Given the description of an element on the screen output the (x, y) to click on. 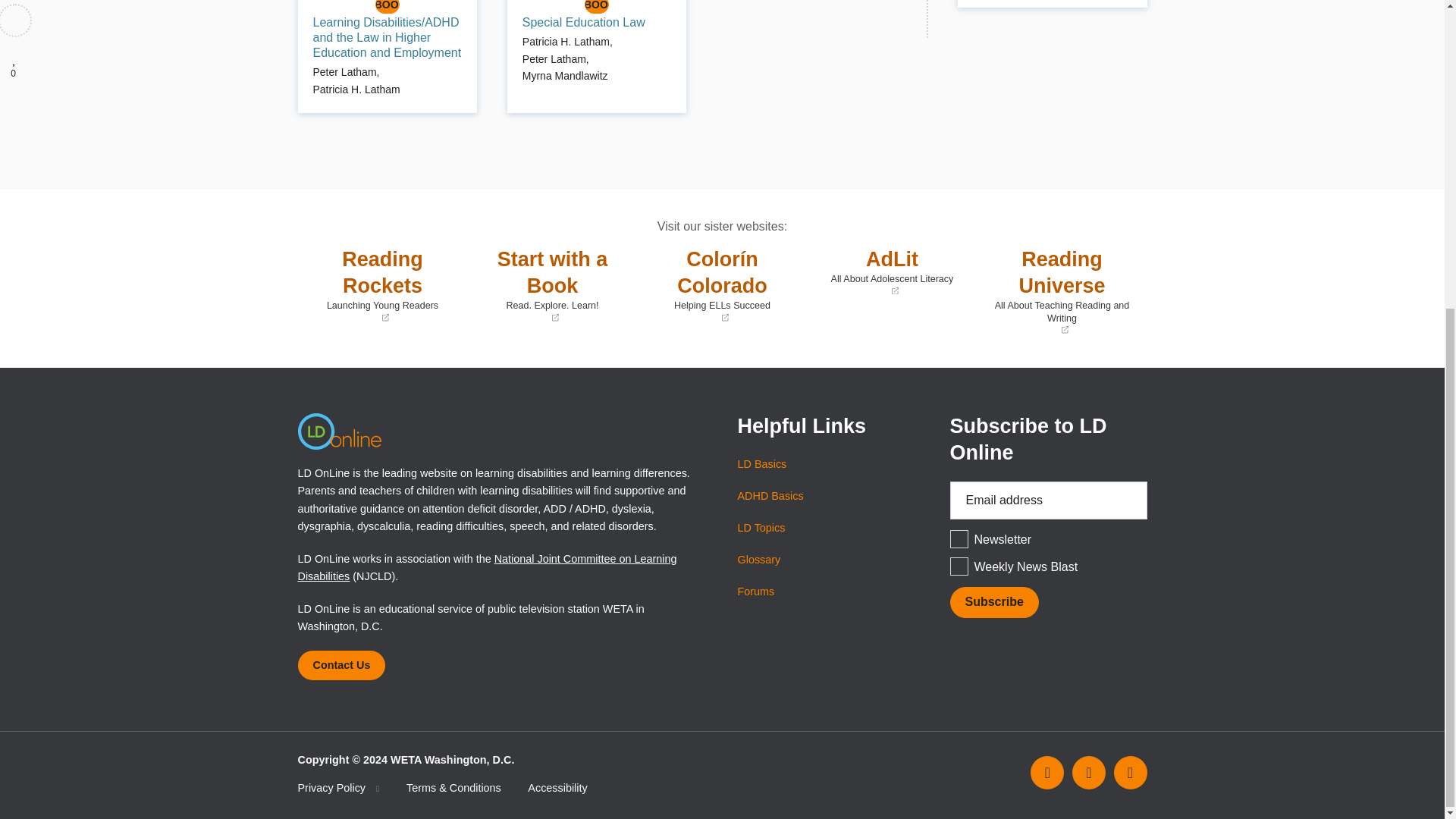
Special Education Law (583, 22)
Subscribe (13, 73)
Like (993, 602)
Share to Email (16, 57)
